Given the description of an element on the screen output the (x, y) to click on. 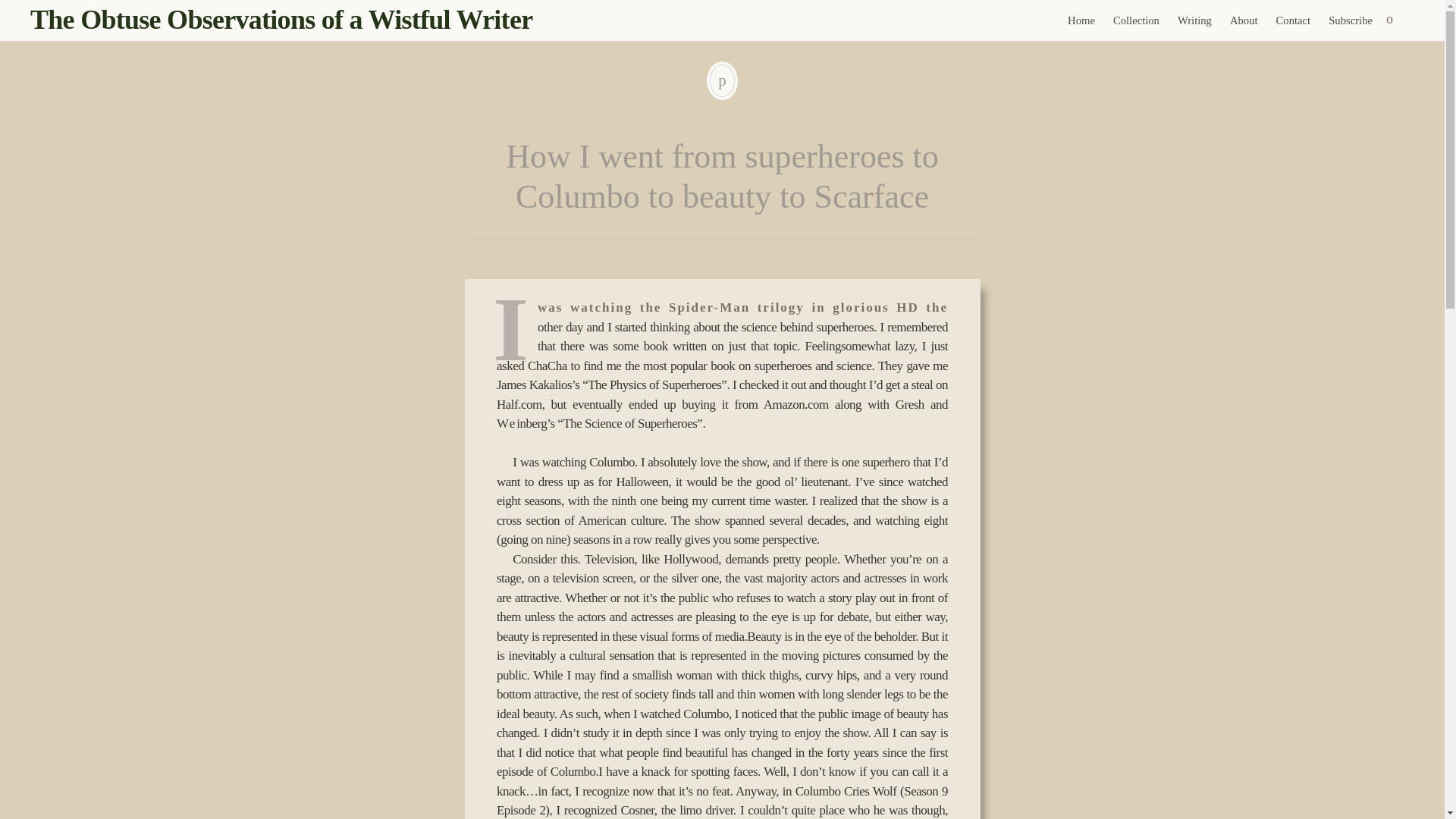
Home (1080, 20)
Writing (1195, 20)
Subscribe (1350, 20)
The Obtuse Observations of a Wistful Writer (281, 19)
About (1244, 20)
Search (11, 9)
Contact (1293, 20)
The Obtuse Observations of a Wistful Writer (281, 19)
Collection (1136, 20)
